Given the description of an element on the screen output the (x, y) to click on. 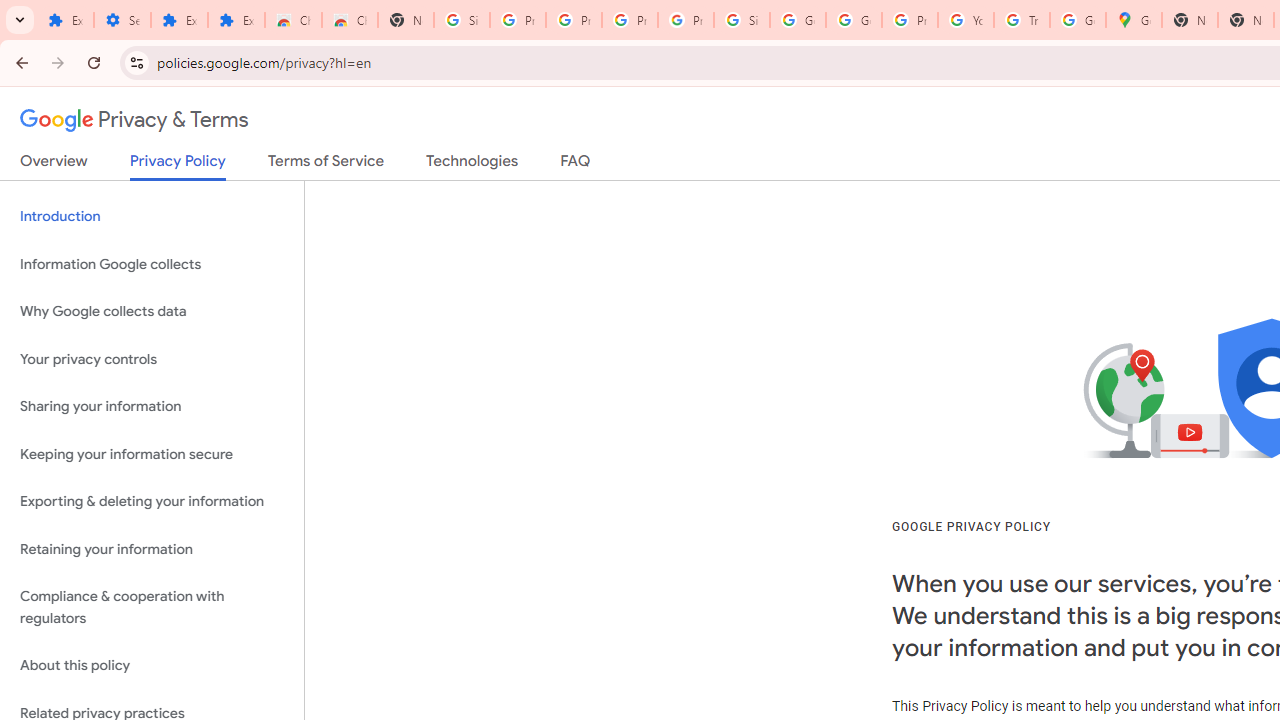
Compliance & cooperation with regulators (152, 607)
Extensions (65, 20)
Chrome Web Store - Themes (349, 20)
Why Google collects data (152, 312)
New Tab (1190, 20)
Information Google collects (152, 263)
New Tab (405, 20)
